Given the description of an element on the screen output the (x, y) to click on. 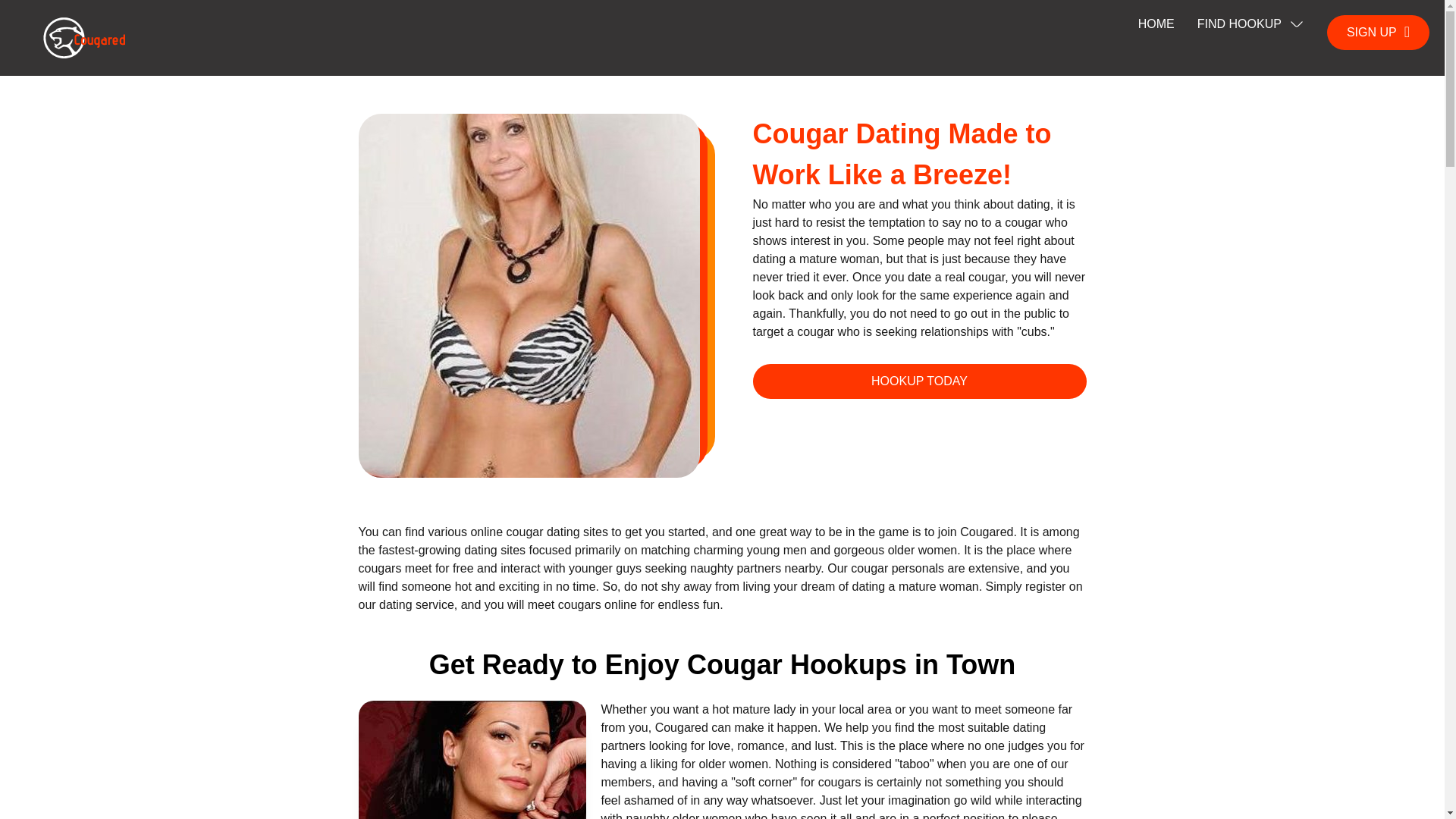
HOOKUP TODAY (919, 380)
HOME (1156, 24)
SIGN UP (1377, 32)
